Given the description of an element on the screen output the (x, y) to click on. 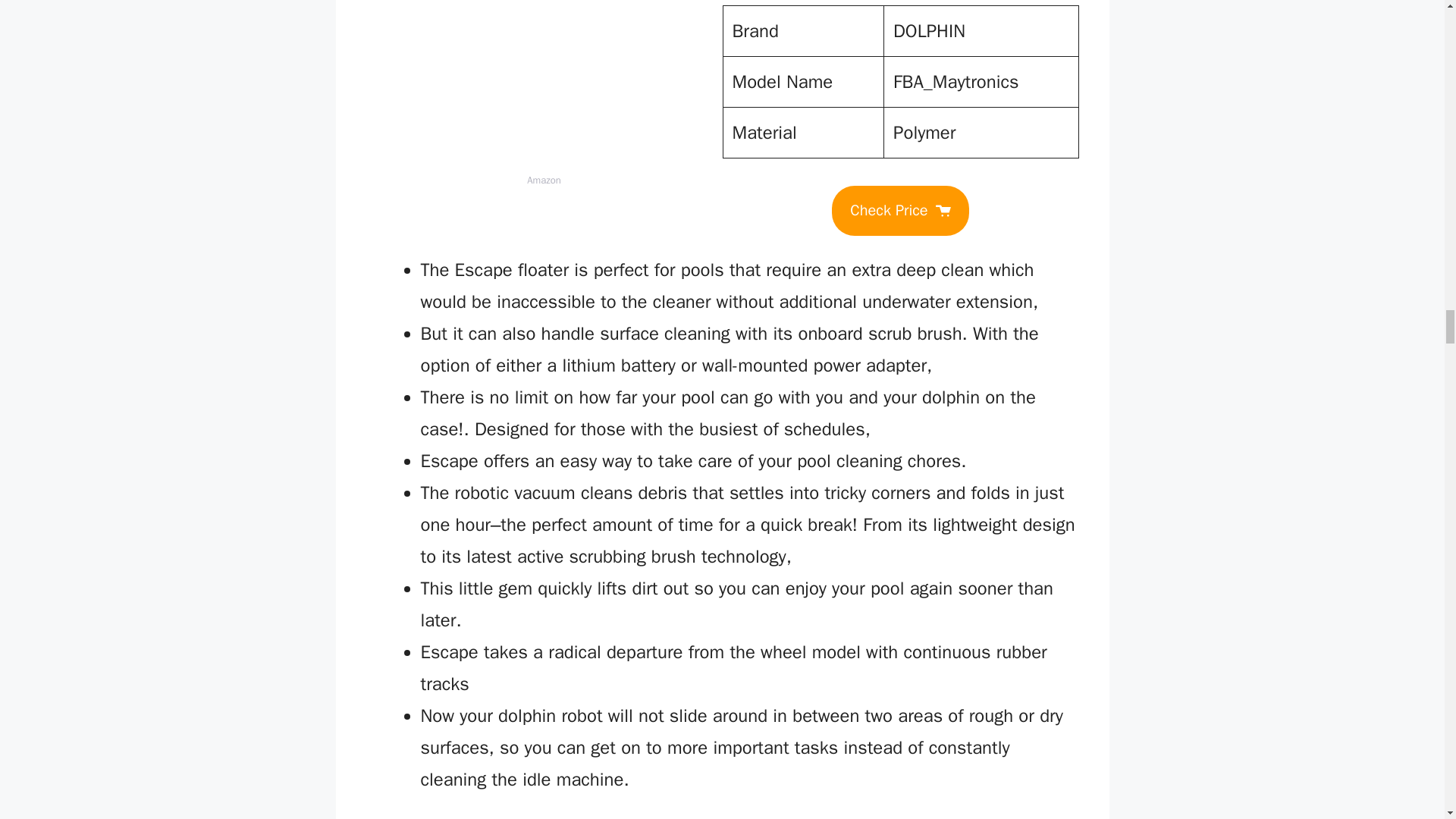
Check Price (899, 210)
